Given the description of an element on the screen output the (x, y) to click on. 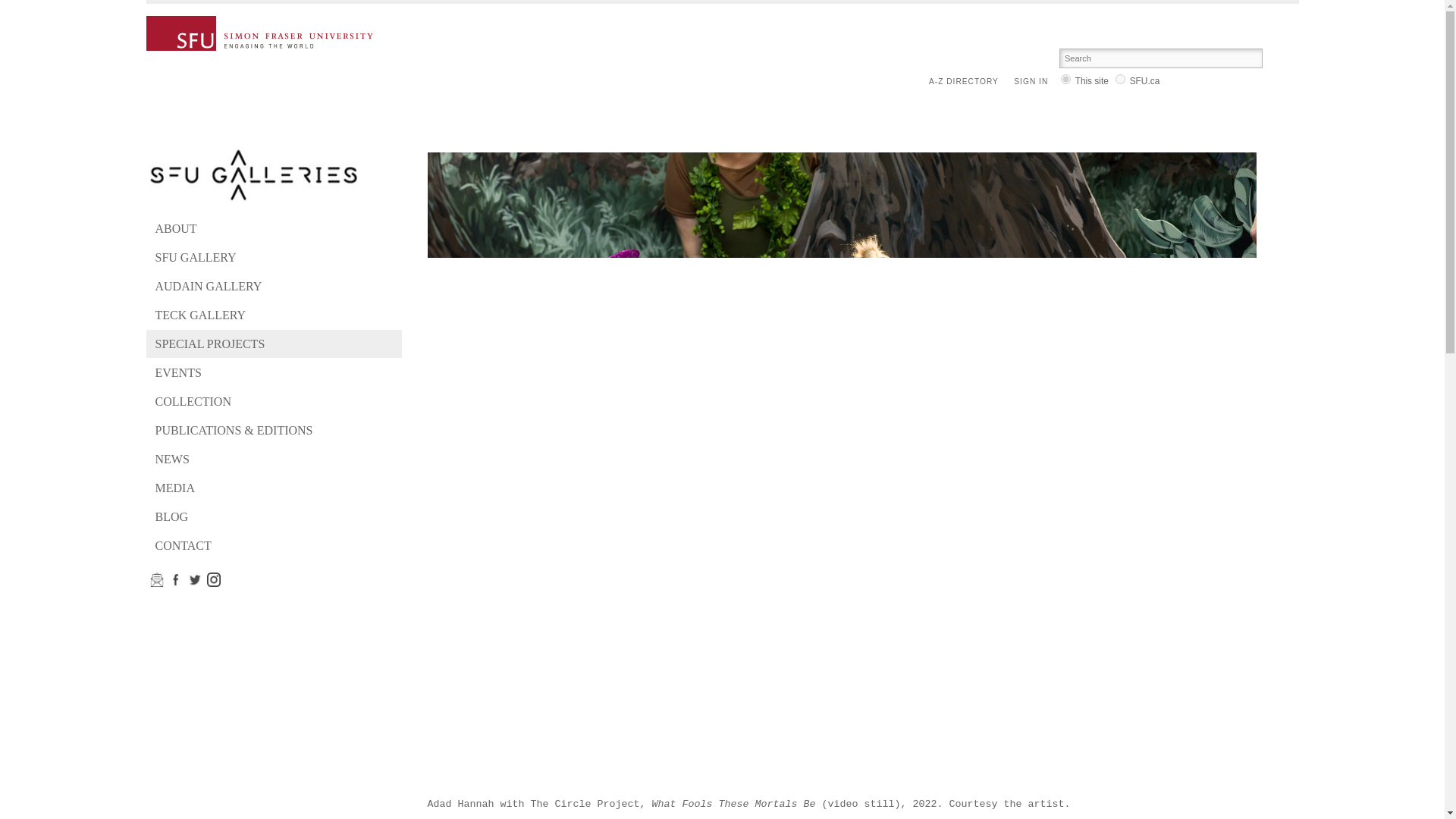
SIGN IN (1034, 82)
sfu (1120, 79)
A-Z DIRECTORY (967, 82)
site (1065, 79)
